Given the description of an element on the screen output the (x, y) to click on. 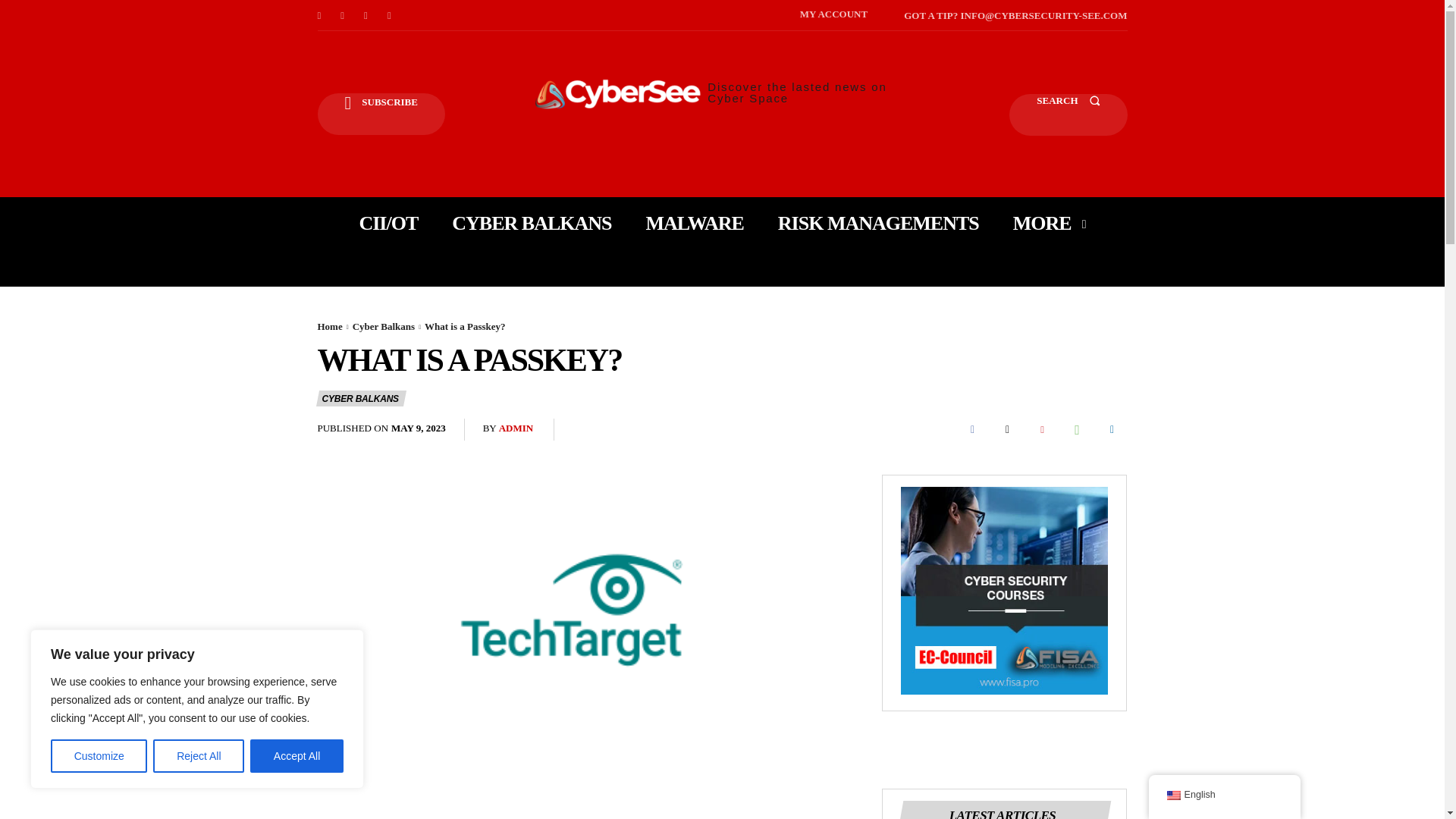
Reject All (198, 756)
Facebook (318, 15)
Instagram (342, 15)
Twitter (389, 15)
Subscribe (380, 114)
Customize (98, 756)
Accept All (296, 756)
Search (1067, 114)
TikTok (366, 15)
